Given the description of an element on the screen output the (x, y) to click on. 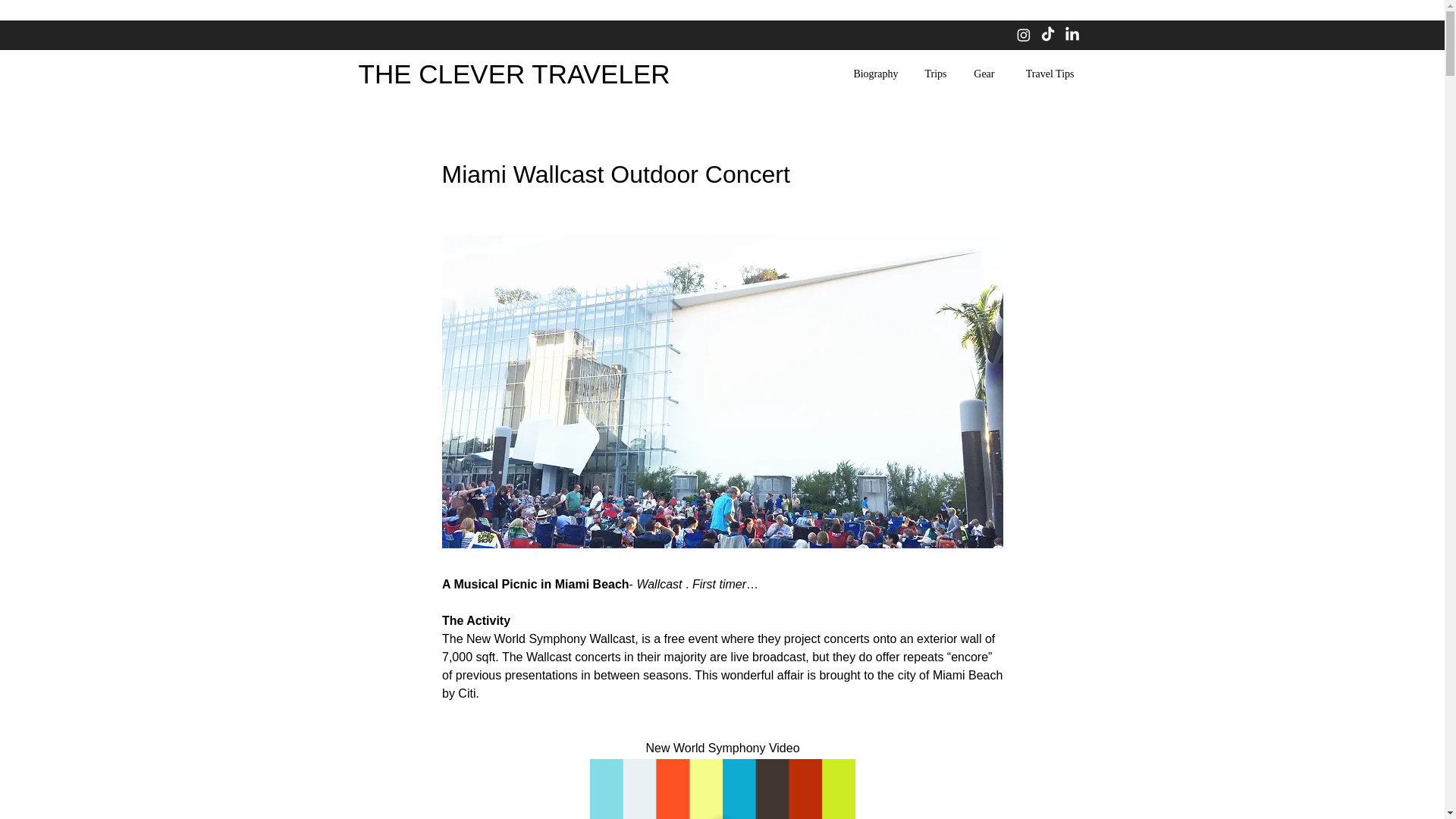
Gear (982, 74)
Biography (871, 74)
Miami Beach (966, 675)
THE CLEVER TRAVELER (513, 73)
Wallcast  (549, 656)
Citi (467, 693)
New World Symphony Wallcast (549, 638)
Travel Tips (1045, 74)
Trips (934, 74)
Wallcast (658, 584)
